Given the description of an element on the screen output the (x, y) to click on. 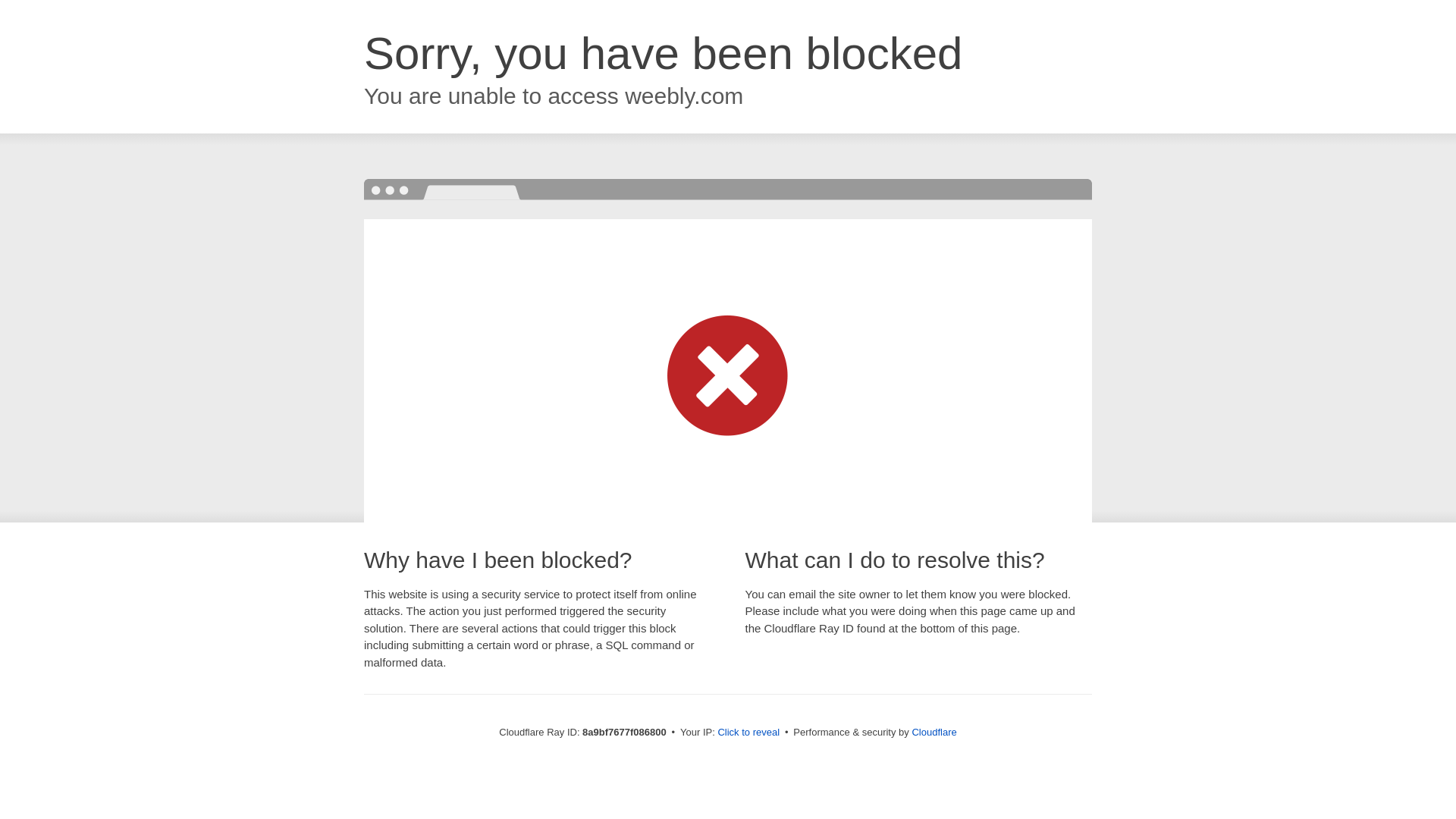
Cloudflare (933, 731)
Click to reveal (747, 732)
